Given the description of an element on the screen output the (x, y) to click on. 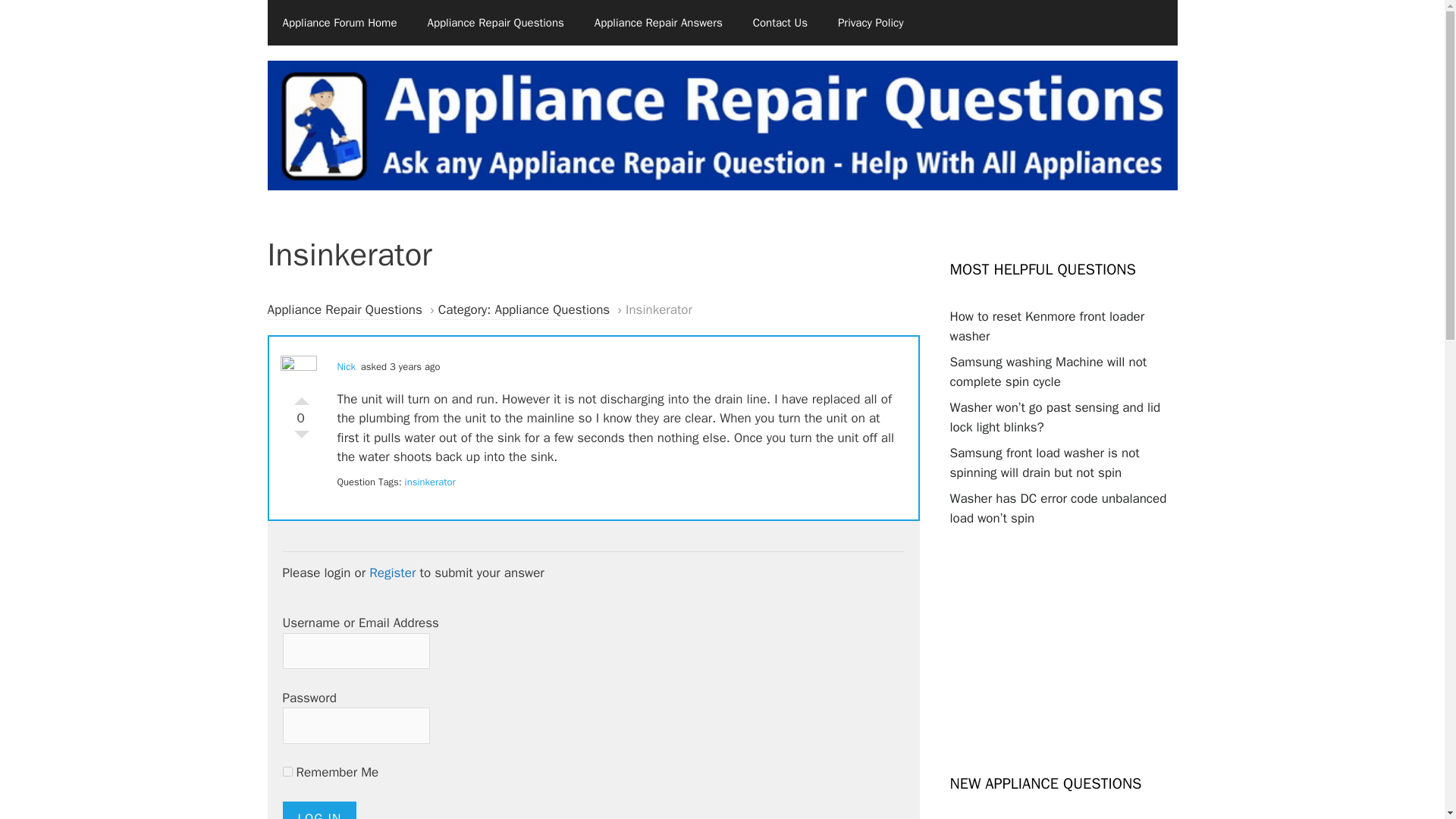
Appliance Repair Questions (495, 22)
insinkerator (429, 481)
Appliance Repair Questions (344, 310)
How to reset Kenmore front loader washer (1046, 325)
Log In (319, 810)
Register (391, 572)
Log In (319, 810)
Samsung washing Machine will not complete spin cycle (1048, 371)
Privacy Policy (870, 22)
Appliance Forum Home (339, 22)
